Given the description of an element on the screen output the (x, y) to click on. 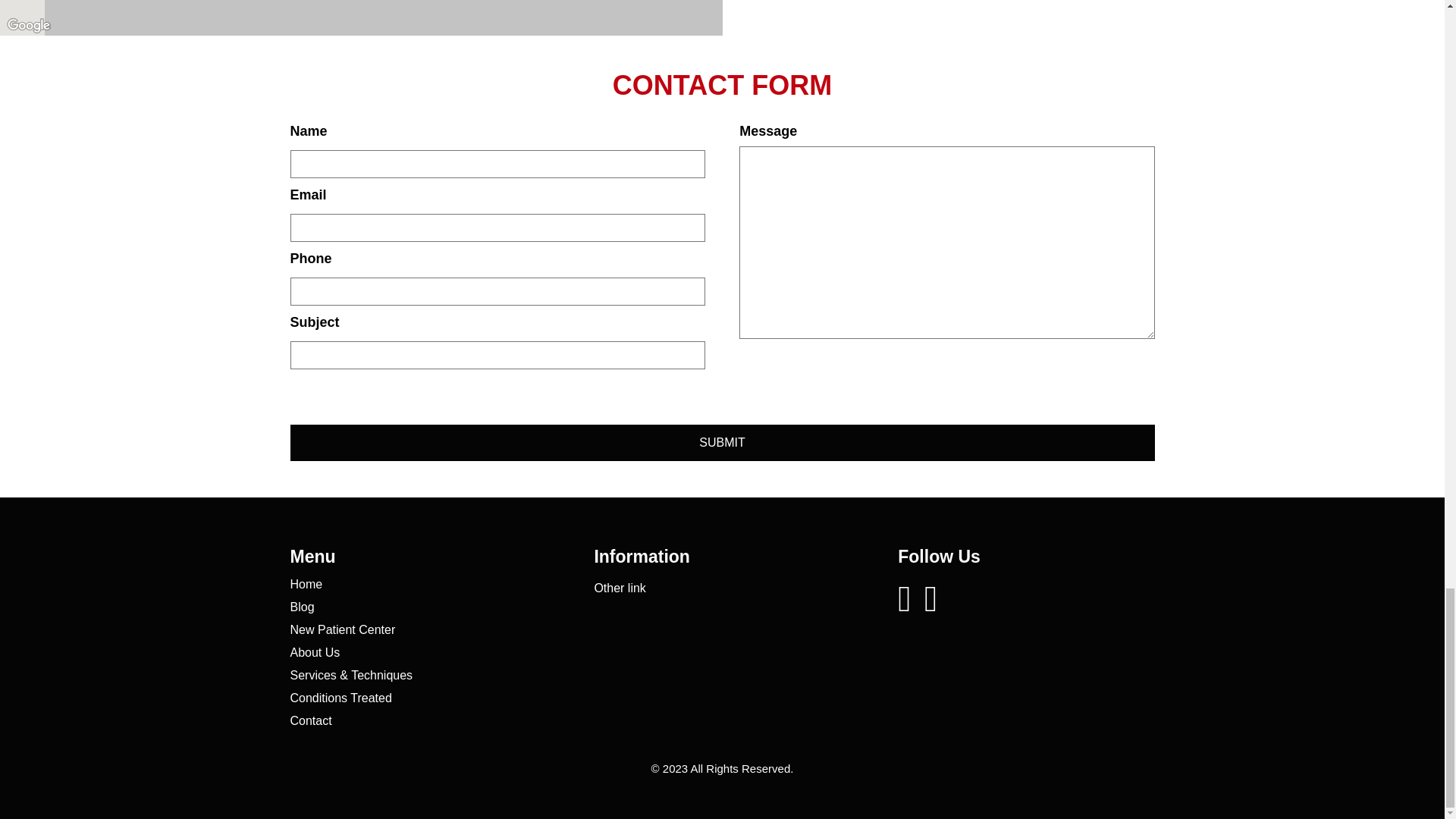
Submit (721, 443)
